Given the description of an element on the screen output the (x, y) to click on. 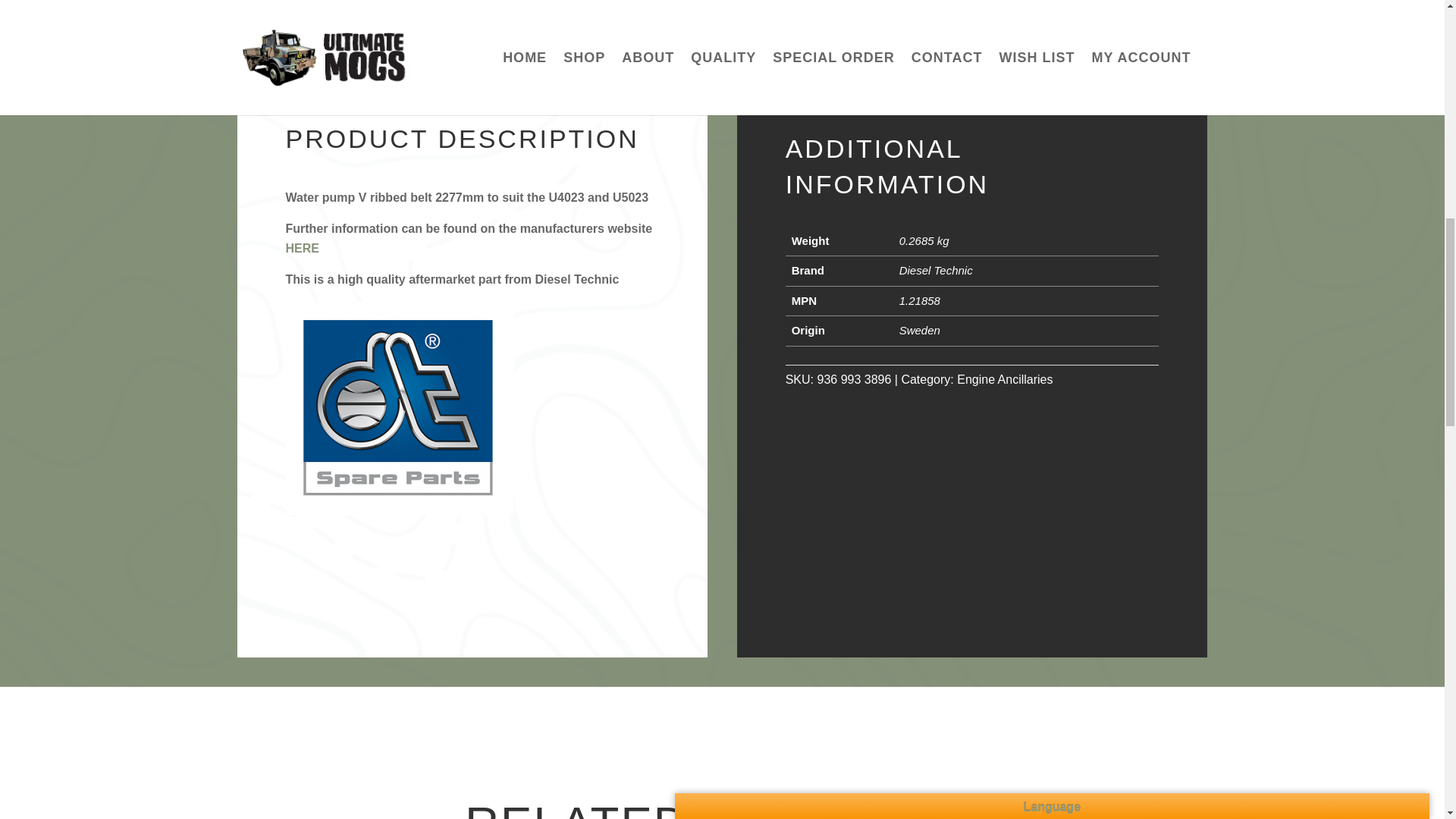
DT spare parts - Ultimate Mogs (398, 408)
HERE (301, 247)
Engine Ancillaries (1004, 379)
